Given the description of an element on the screen output the (x, y) to click on. 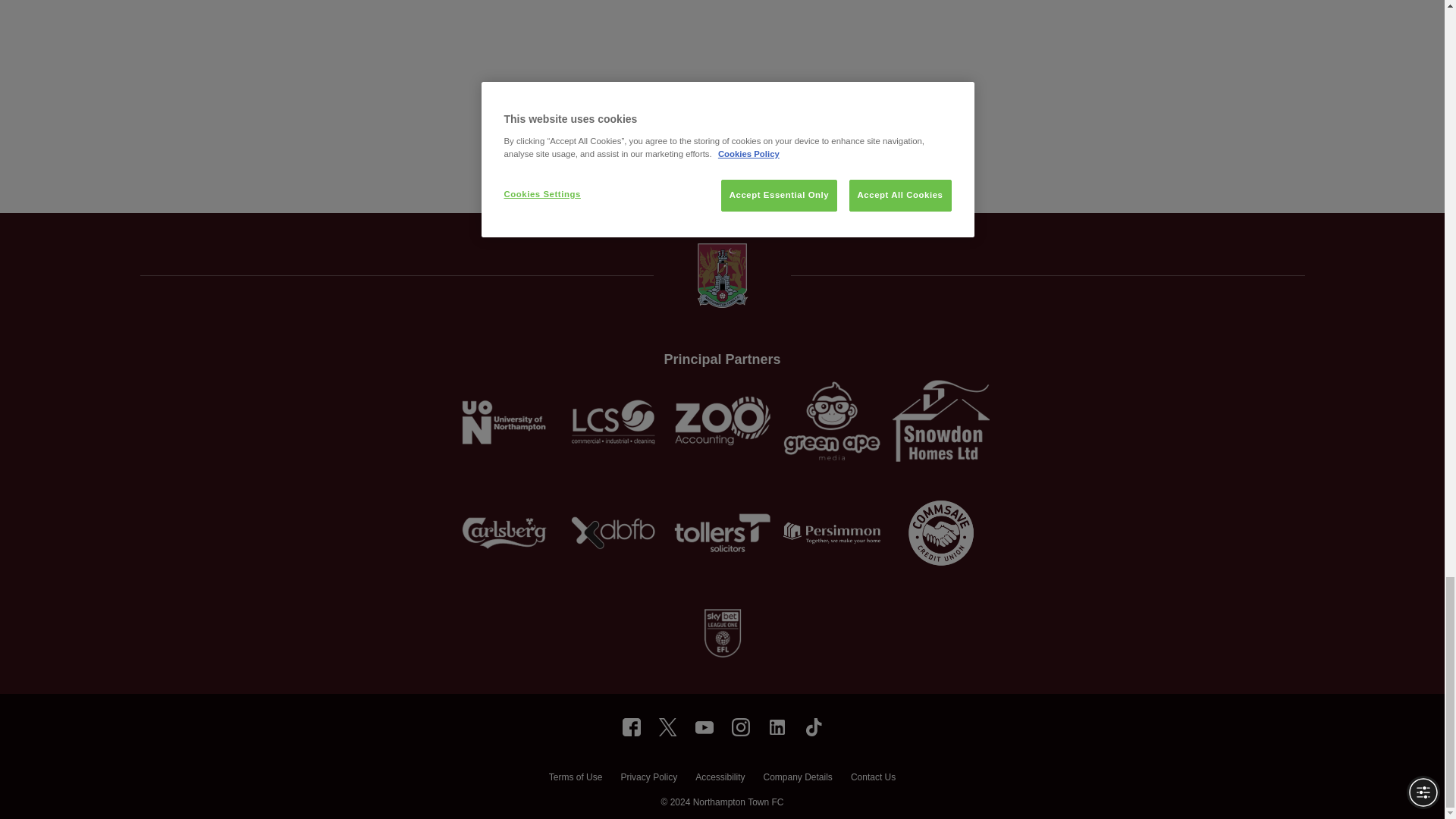
Contact Us (872, 779)
Company Details (796, 779)
Embedded content (635, 70)
Contact Us (872, 779)
Company Details (796, 779)
Terms of Use (575, 779)
northamptontownfc (630, 727)
Privacy Policy (648, 779)
Accessibility (719, 779)
Accessibility (719, 779)
Privacy Policy (648, 779)
northampton-town-football-club (776, 727)
Terms of Use (575, 779)
